Given the description of an element on the screen output the (x, y) to click on. 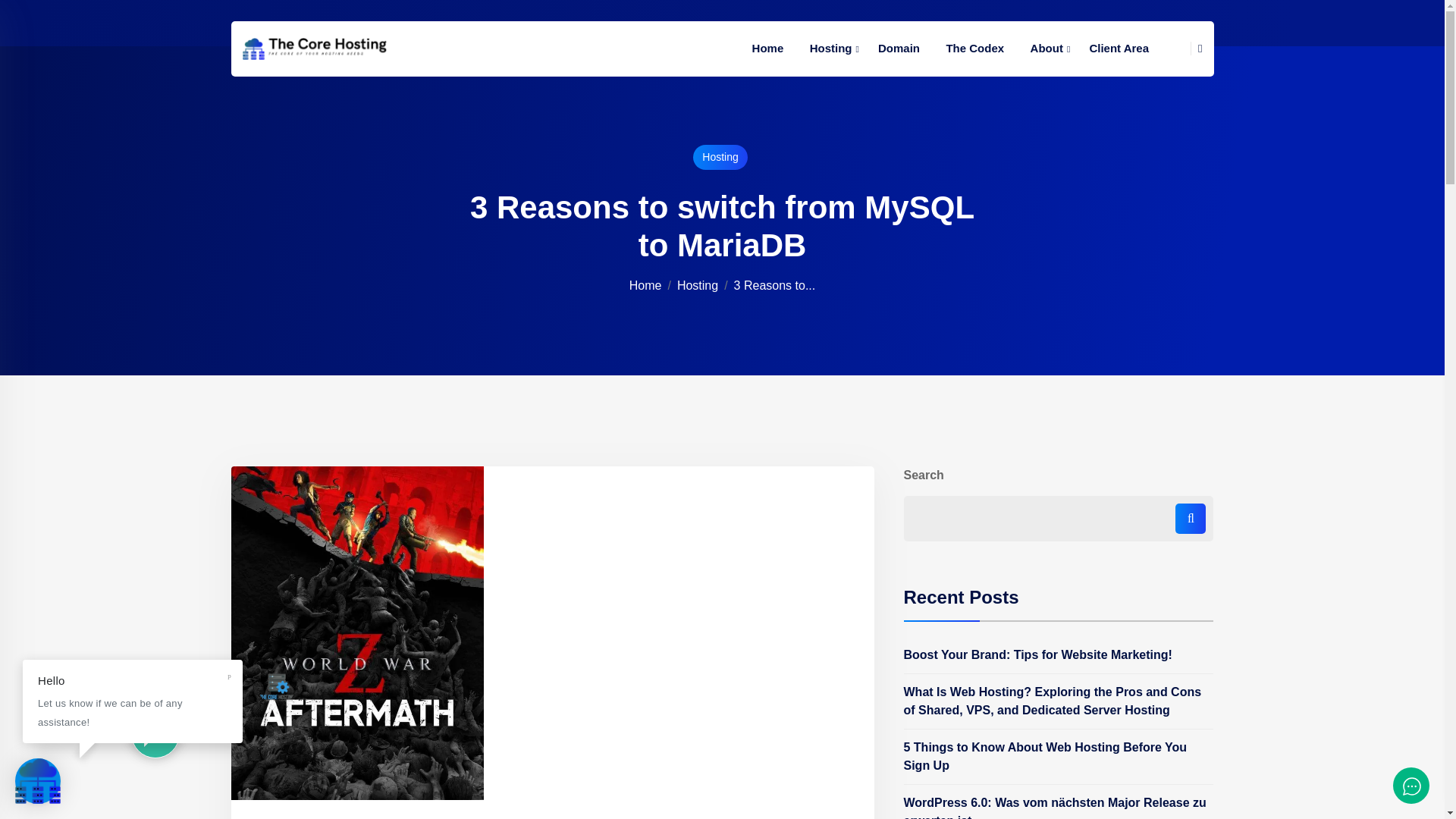
Client Area (1118, 48)
Home (645, 285)
Home (767, 48)
Domain (898, 48)
Hosting (830, 48)
About (1046, 48)
3 Reasons to switch from MySQL to MariaDB (774, 285)
The Codex (974, 48)
